Given the description of an element on the screen output the (x, y) to click on. 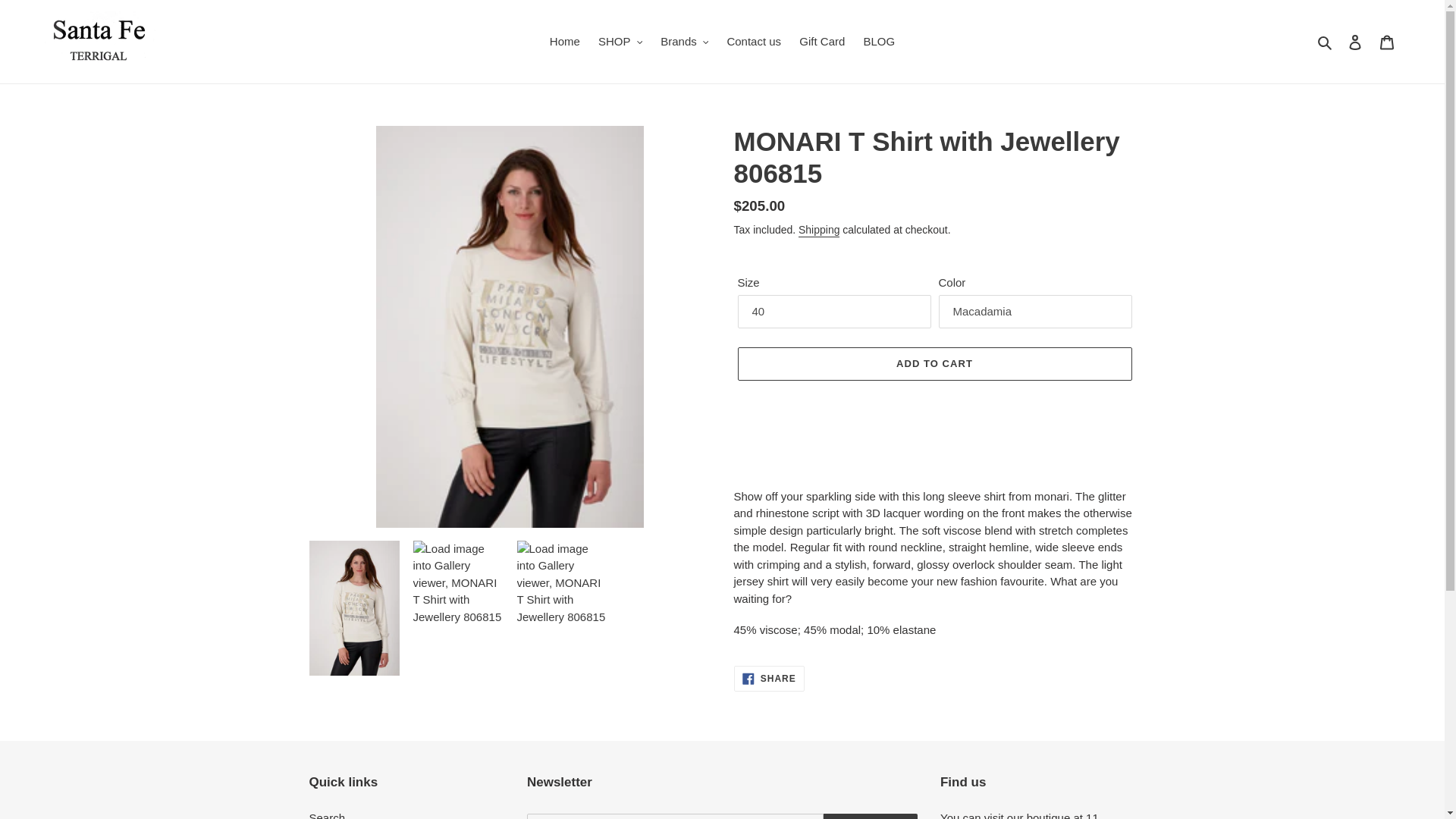
Brands (684, 42)
Gift Card (821, 42)
Home (564, 42)
BLOG (879, 42)
Cart (1387, 41)
Log in (1355, 41)
SHOP (620, 42)
Contact us (754, 42)
Search (1326, 41)
